Given the description of an element on the screen output the (x, y) to click on. 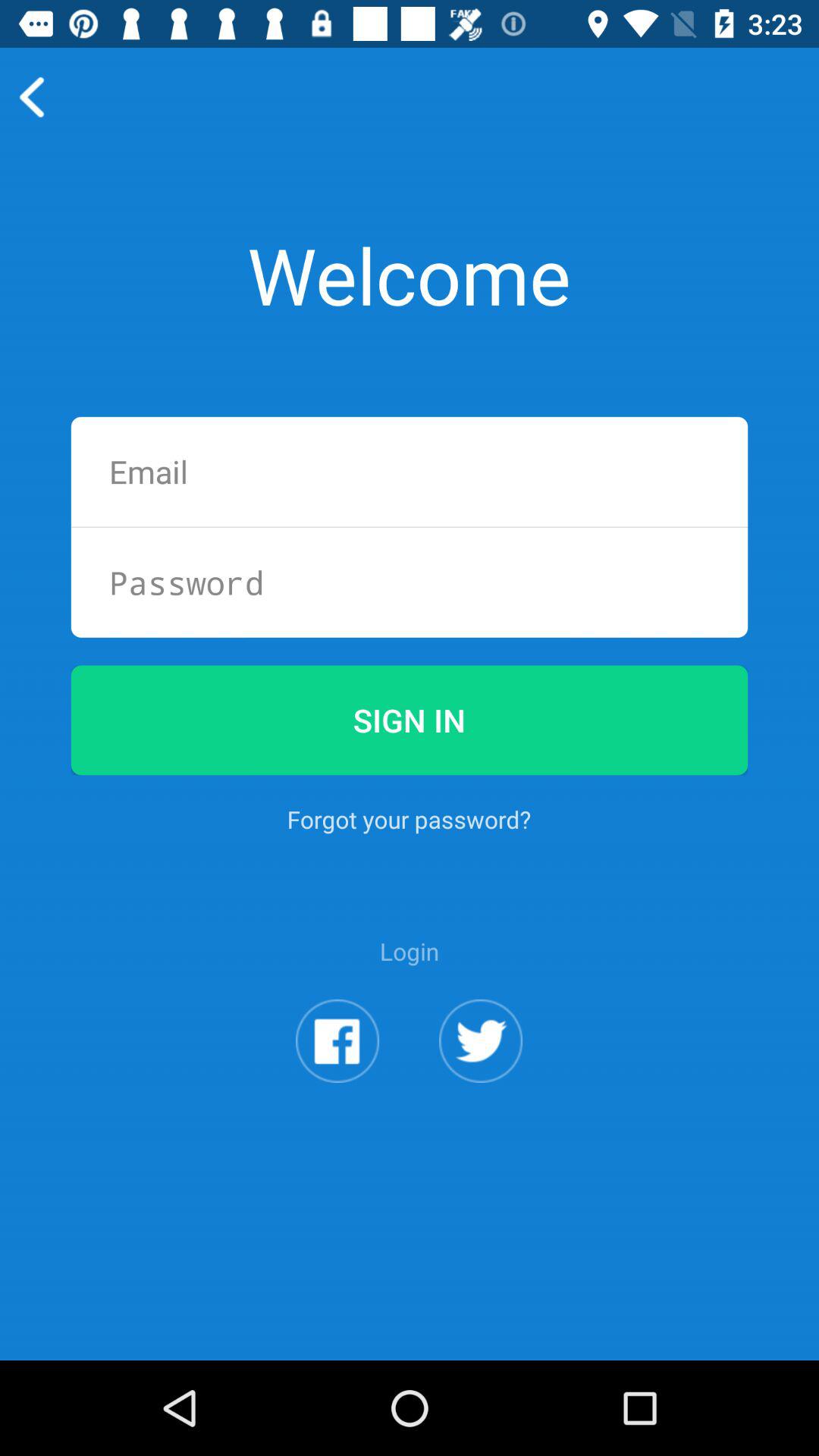
enter password (409, 582)
